Given the description of an element on the screen output the (x, y) to click on. 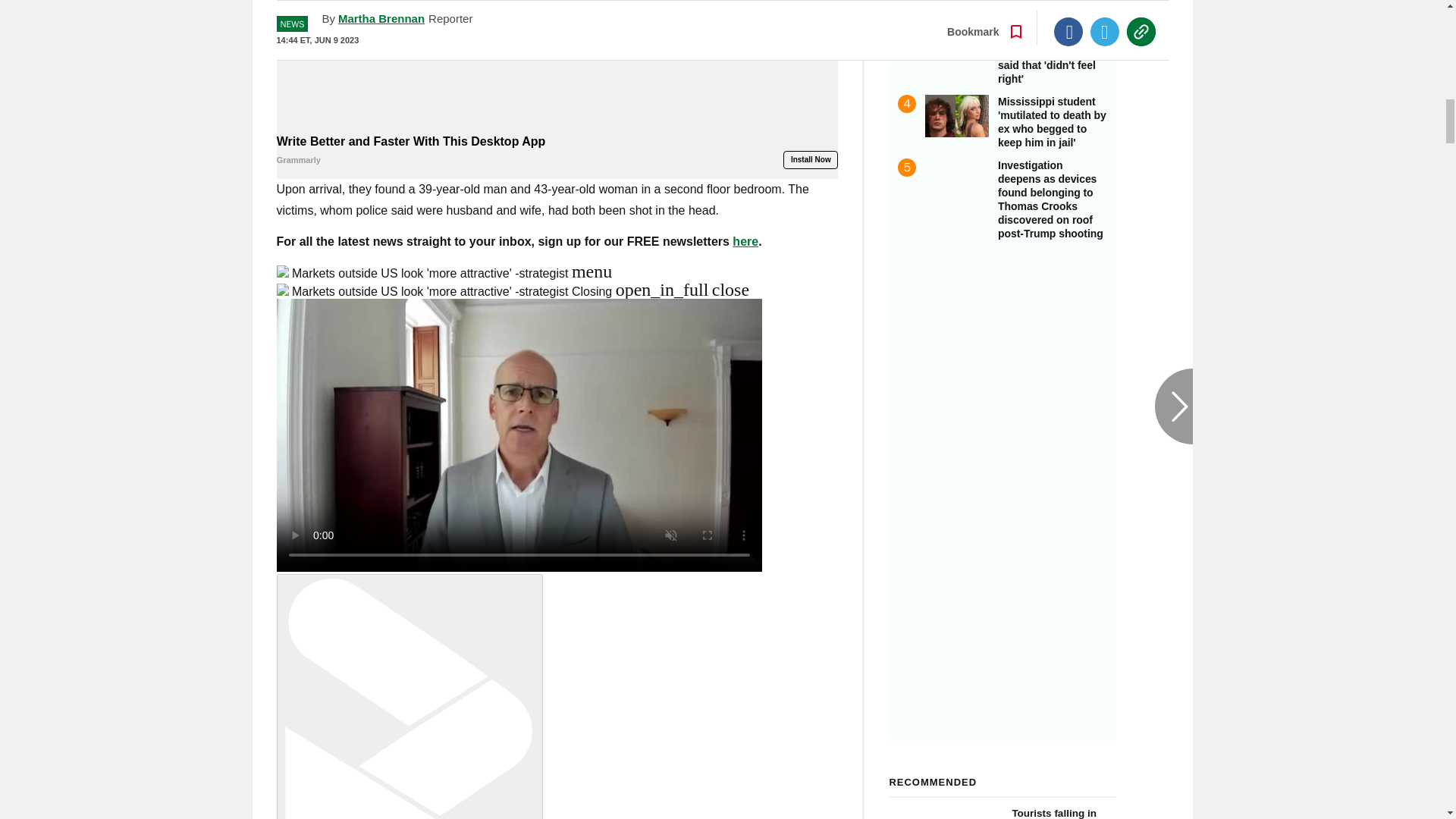
Write Better and Faster With This Desktop App (557, 150)
